Given the description of an element on the screen output the (x, y) to click on. 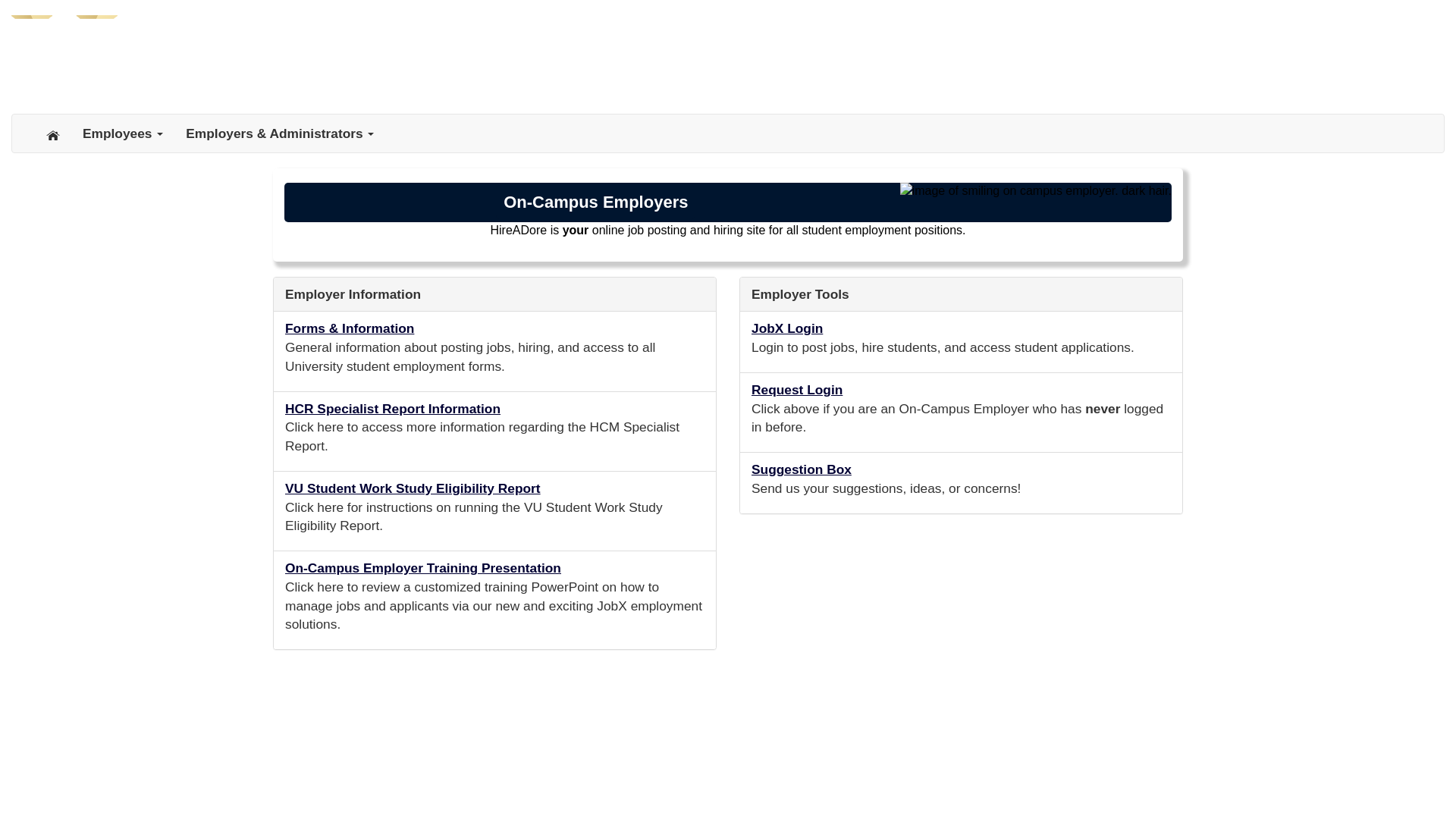
Request Login (797, 393)
VU Student Work Study Eligibility Report (412, 491)
Employees (122, 133)
Suggestion Box (801, 472)
JobX Login (786, 332)
On-Campus Employers (595, 202)
On-Campus Employer Training Presentation (422, 571)
HCR Specialist Report Information (392, 412)
